Given the description of an element on the screen output the (x, y) to click on. 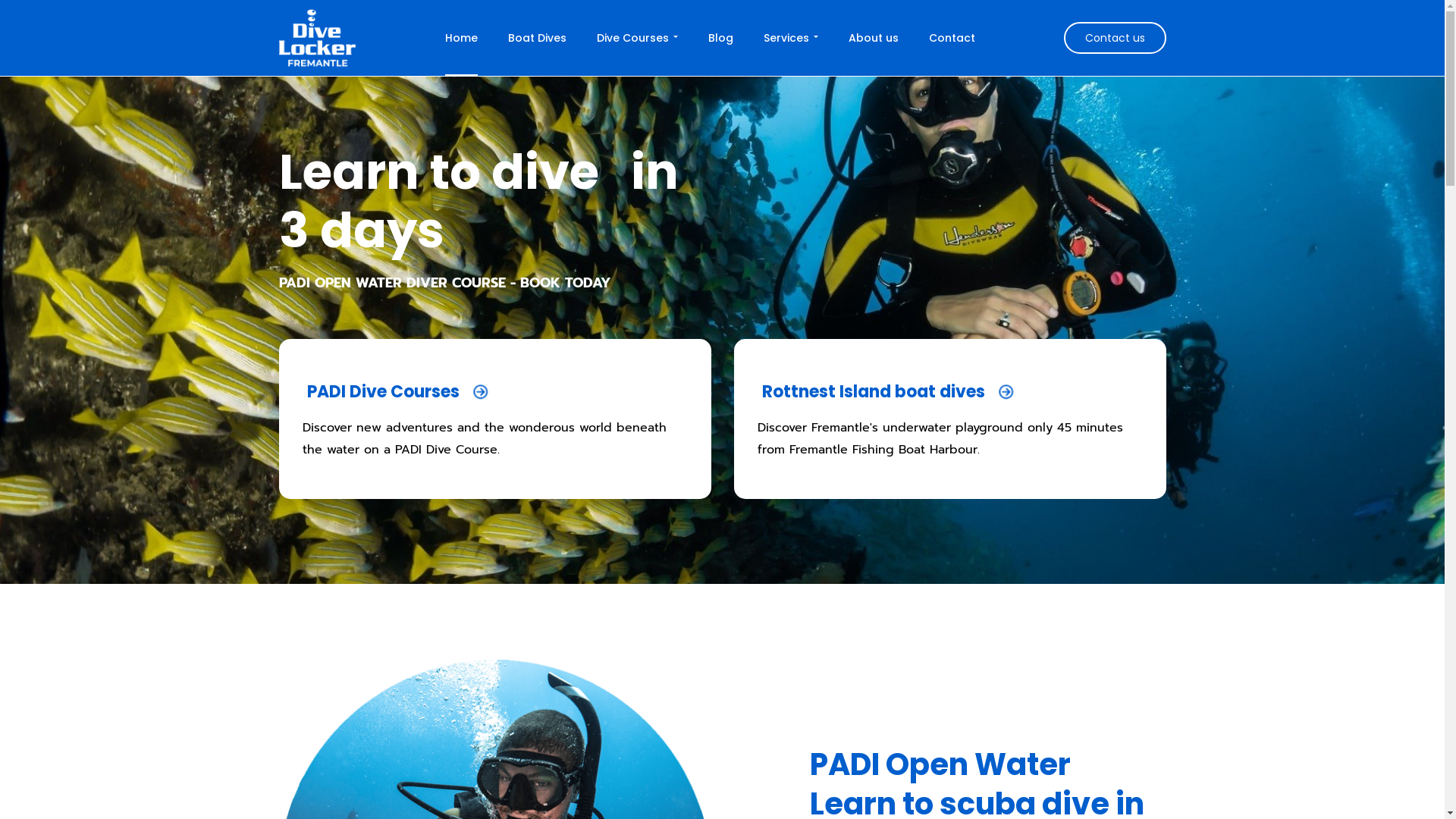
About us Element type: text (873, 37)
Dive Courses Element type: text (637, 37)
PADI Dive Courses Element type: text (403, 391)
Rottnest Island boat dives Element type: text (894, 391)
Home Element type: text (461, 37)
Boat Dives Element type: text (536, 37)
PADI OPEN WATER DIVER COURSE - BOOK TODAY Element type: text (445, 283)
Contact us Element type: text (1114, 37)
Contact Element type: text (951, 37)
Blog Element type: text (719, 37)
Services Element type: text (790, 37)
